Given the description of an element on the screen output the (x, y) to click on. 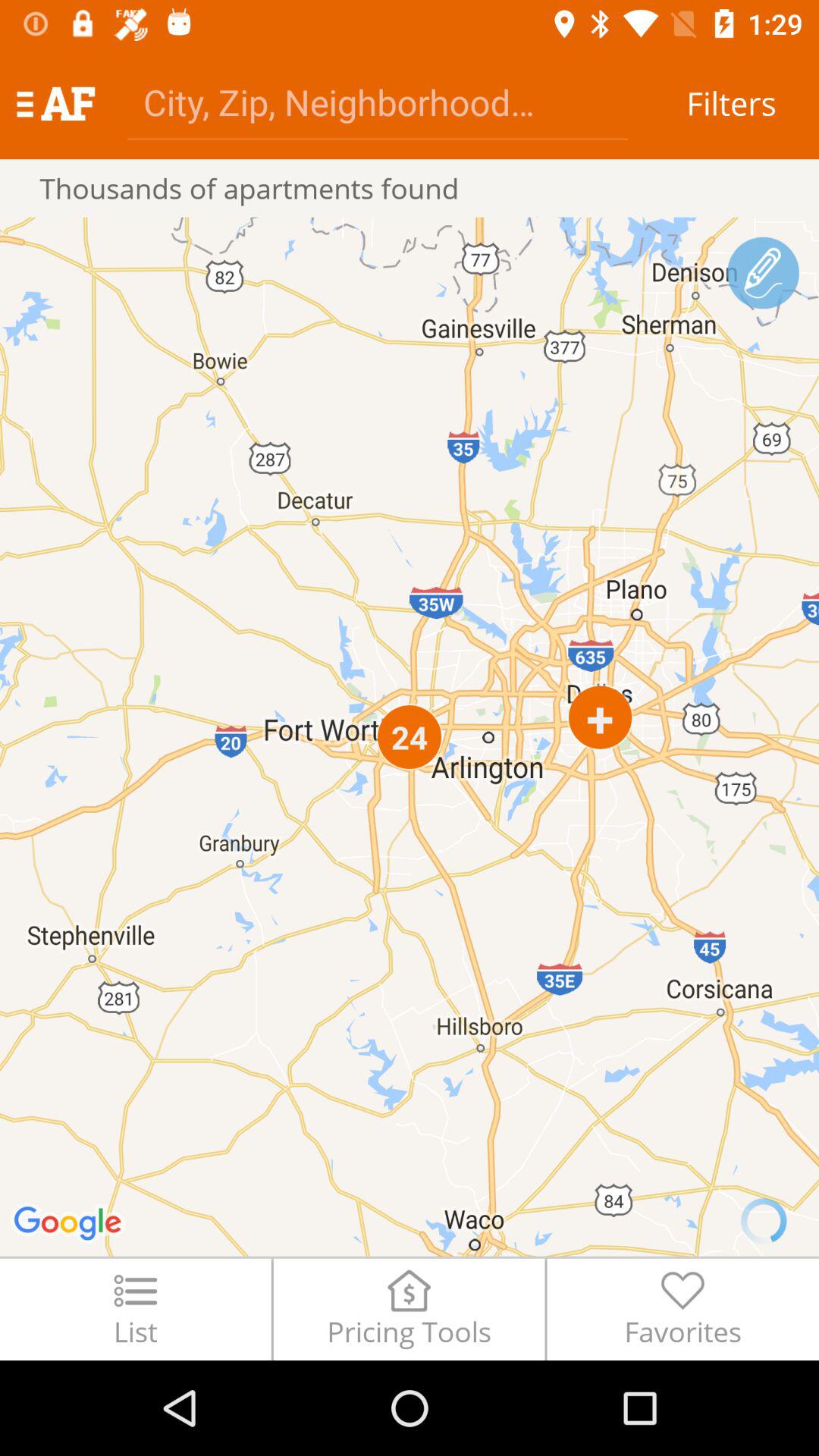
tap item to the right of pricing tools item (683, 1309)
